Given the description of an element on the screen output the (x, y) to click on. 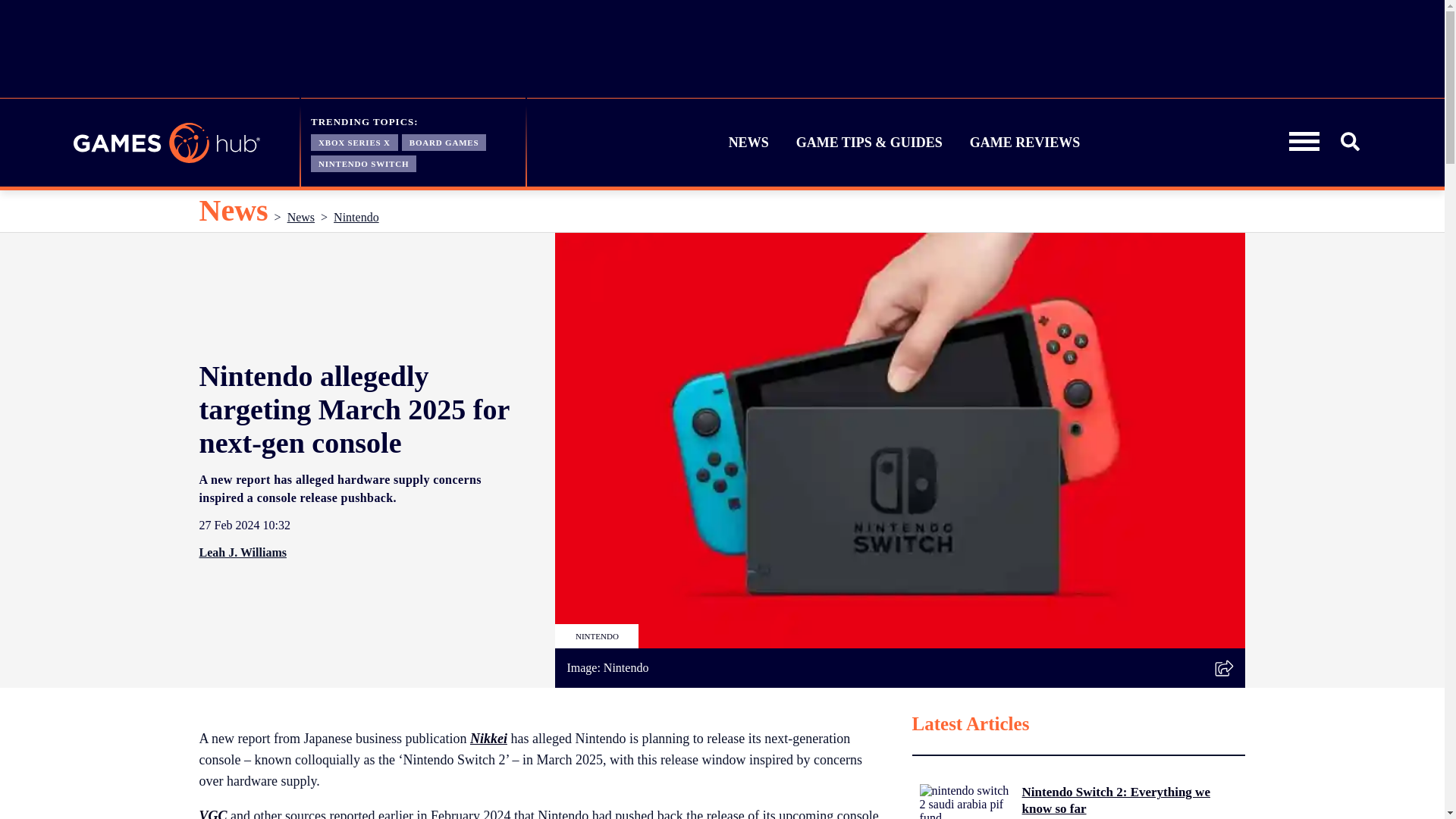
NEWS (748, 142)
NINTENDO SWITCH (363, 162)
GAME REVIEWS (1025, 142)
BOARD GAMES (443, 141)
XBOX SERIES X (354, 141)
